Given the description of an element on the screen output the (x, y) to click on. 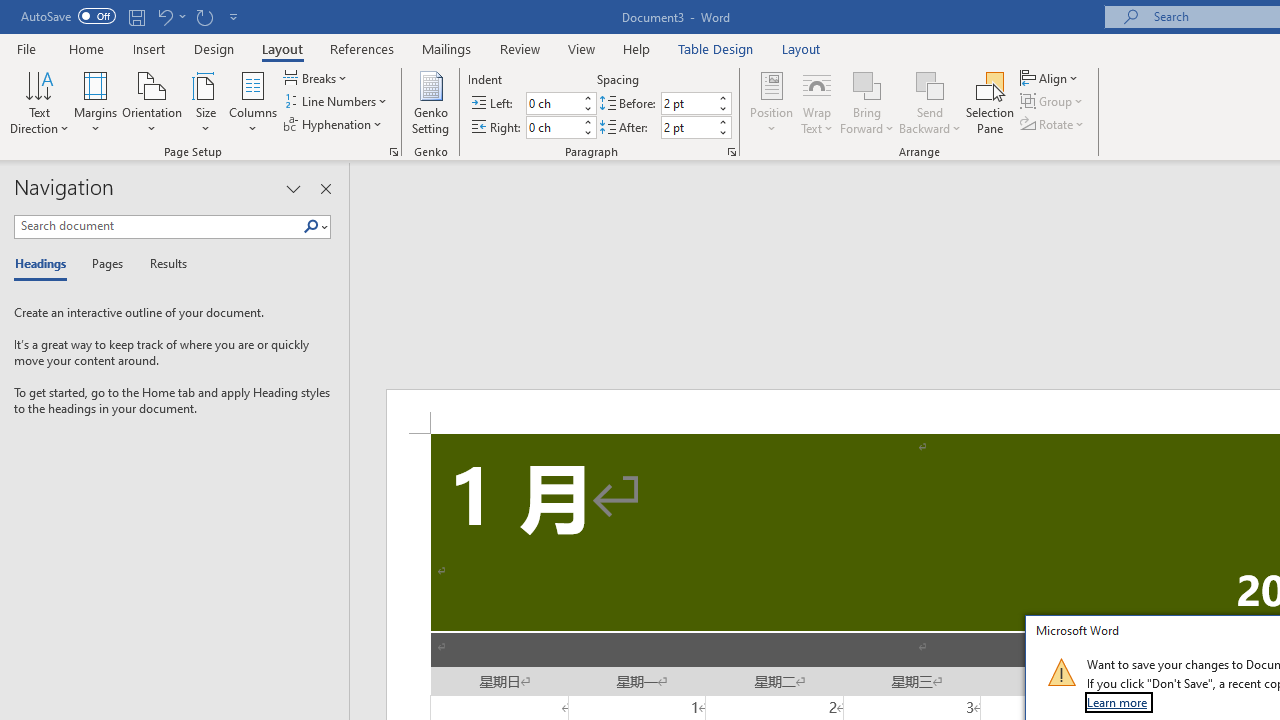
Headings (45, 264)
Columns (253, 102)
Pages (105, 264)
Page Setup... (393, 151)
Results (161, 264)
Selection Pane... (990, 102)
Search document (157, 226)
Size (205, 102)
Undo Increase Indent (164, 15)
Wrap Text (817, 102)
